Given the description of an element on the screen output the (x, y) to click on. 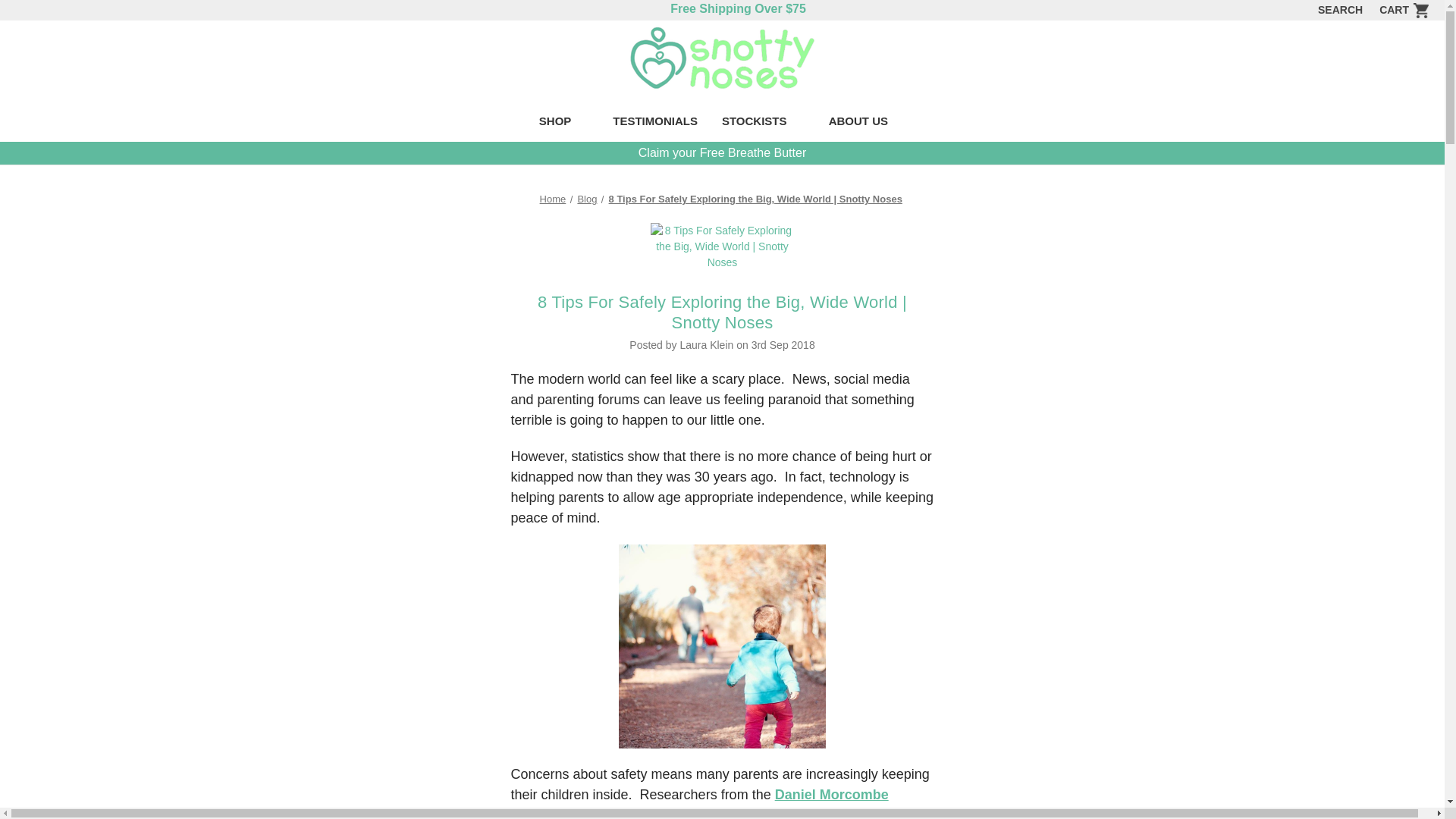
ABOUT US (866, 122)
Daniel Morcombe Foundation (699, 803)
Blog (586, 198)
SEARCH (1339, 10)
Home (553, 198)
SHOP (563, 122)
STOCKISTS (763, 122)
Snotty Noses Australia (721, 58)
TESTIMONIALS (654, 122)
CART (1399, 10)
Claim your Free Breathe Butter (722, 152)
